Given the description of an element on the screen output the (x, y) to click on. 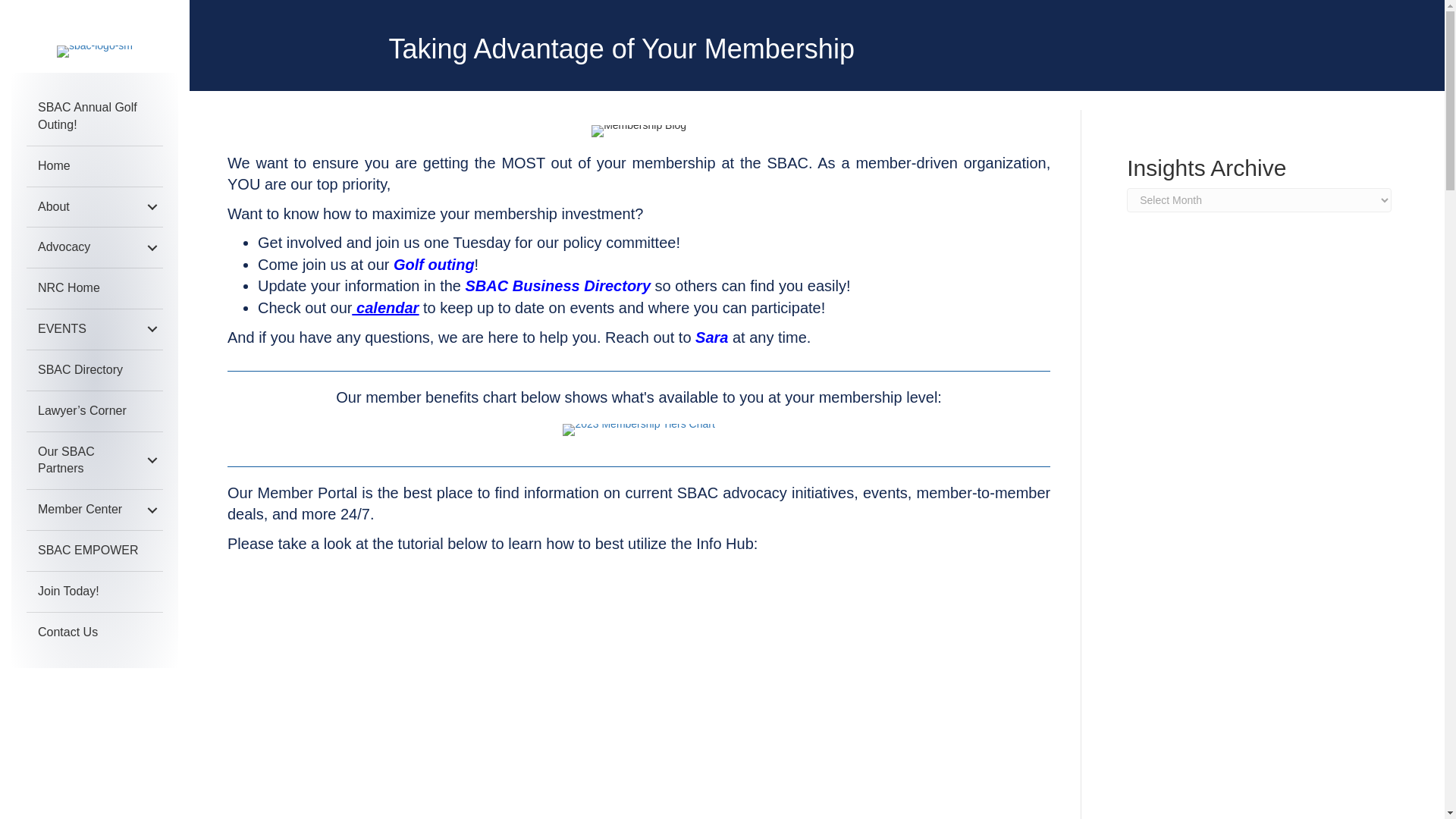
Sara (711, 337)
2023 Membership Tiers Chart (638, 429)
SBAC Directory (94, 370)
Membership Blog (638, 131)
sbac-logo-sm (94, 51)
Contact Us (94, 632)
Advocacy (94, 247)
SBAC Annual Golf Outing! (94, 116)
About (94, 207)
Home (94, 166)
SBAC EMPOWER (94, 550)
Member Center (94, 509)
calendar (385, 307)
EVENTS (94, 329)
Golf outing (431, 264)
